Given the description of an element on the screen output the (x, y) to click on. 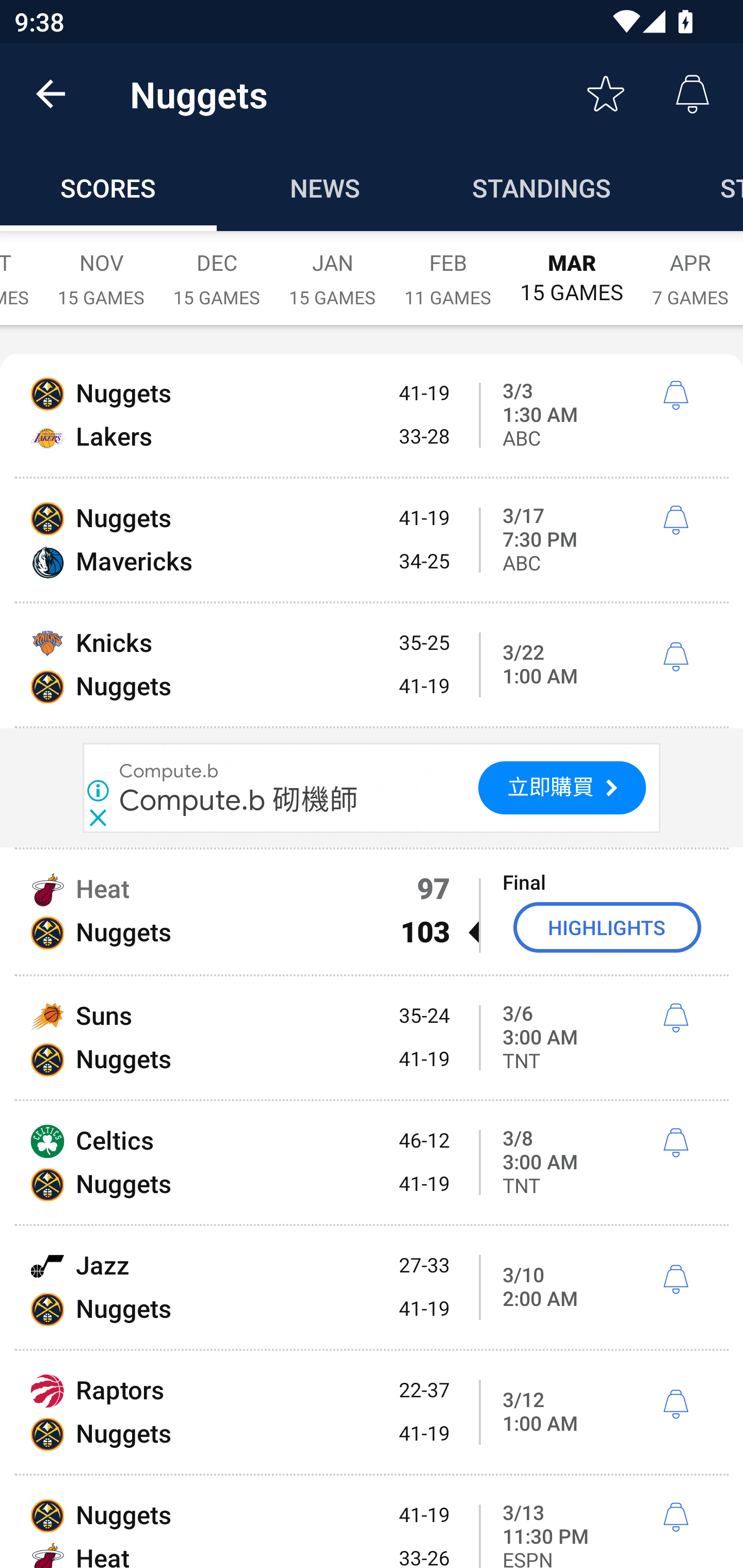
back.button (50, 93)
Favorite toggle (605, 93)
Alerts (692, 93)
News NEWS (324, 187)
Standings STANDINGS (541, 187)
NOV 15 GAMES (101, 268)
DEC 15 GAMES (216, 268)
JAN 15 GAMES (332, 268)
FEB 11 GAMES (447, 268)
MAR 15 GAMES (571, 267)
APR 7 GAMES (690, 268)
Nuggets 41-19 Lakers 33-28 3/3 1:30 AM í ABC (371, 415)
í (675, 395)
Nuggets 41-19 Mavericks 34-25 3/17 7:30 PM í ABC (371, 540)
í (675, 520)
Knicks 35-25 Nuggets 41-19 3/22 1:00 AM í (371, 664)
í (675, 657)
Compute.b (168, 770)
立即購買 (561, 787)
Compute.b 砌機師 (238, 799)
Heat 97 Final Nuggets 103  HIGHLIGHTS (371, 911)
HIGHLIGHTS (607, 927)
Suns 35-24 Nuggets 41-19 3/6 3:00 AM í TNT (371, 1037)
í (675, 1017)
Celtics 46-12 Nuggets 41-19 3/8 3:00 AM í TNT (371, 1162)
í (675, 1142)
Jazz 27-33 Nuggets 41-19 3/10 2:00 AM í (371, 1287)
í (675, 1279)
Raptors 22-37 Nuggets 41-19 3/12 1:00 AM í (371, 1412)
í (675, 1404)
Nuggets 41-19 Heat 33-26 3/13 11:30 PM í ESPN (371, 1521)
í (675, 1517)
